Given the description of an element on the screen output the (x, y) to click on. 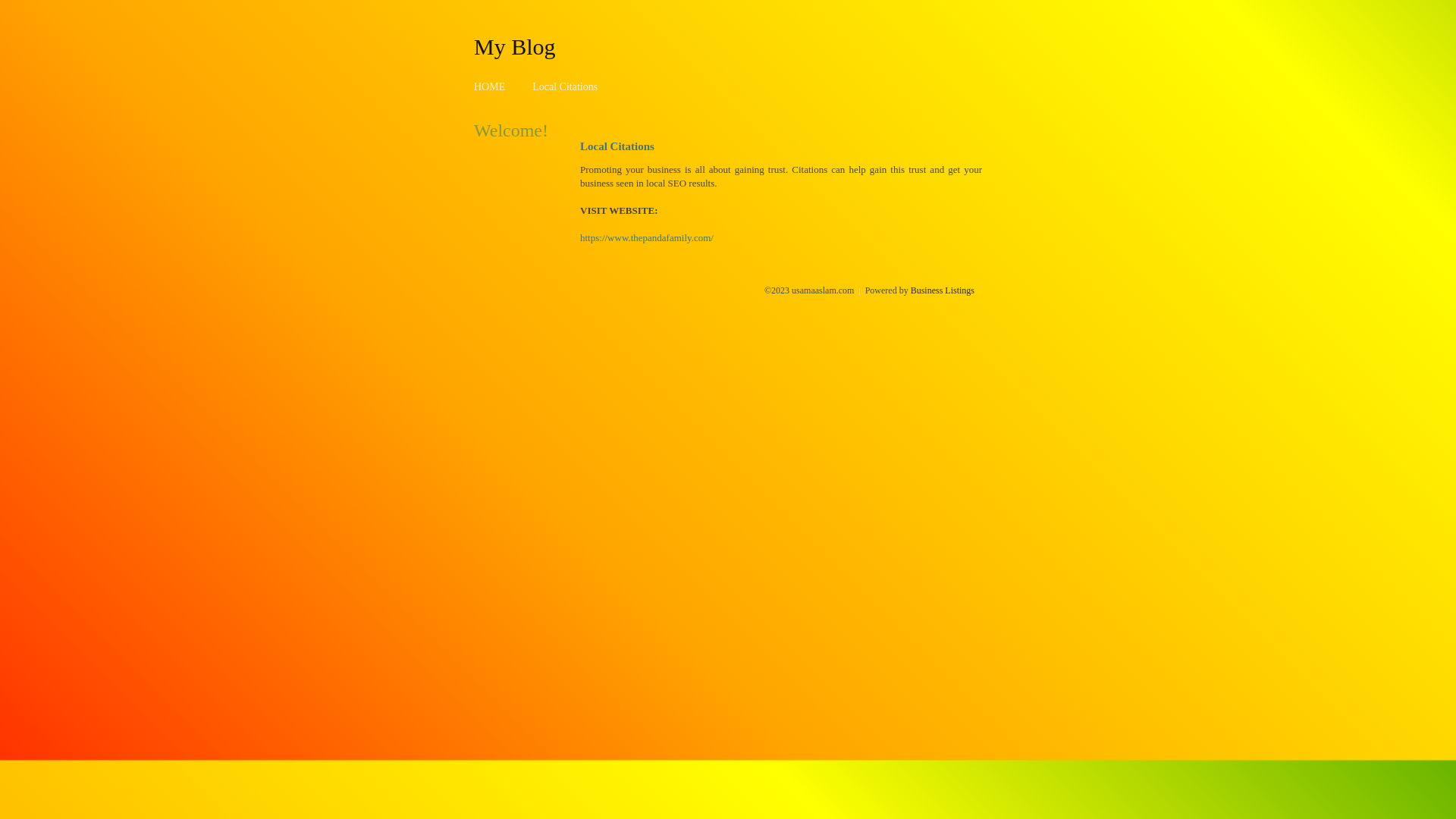
Local Citations Element type: text (564, 86)
HOME Element type: text (489, 86)
Business Listings Element type: text (942, 290)
https://www.thepandafamily.com/ Element type: text (646, 237)
My Blog Element type: text (514, 46)
